Given the description of an element on the screen output the (x, y) to click on. 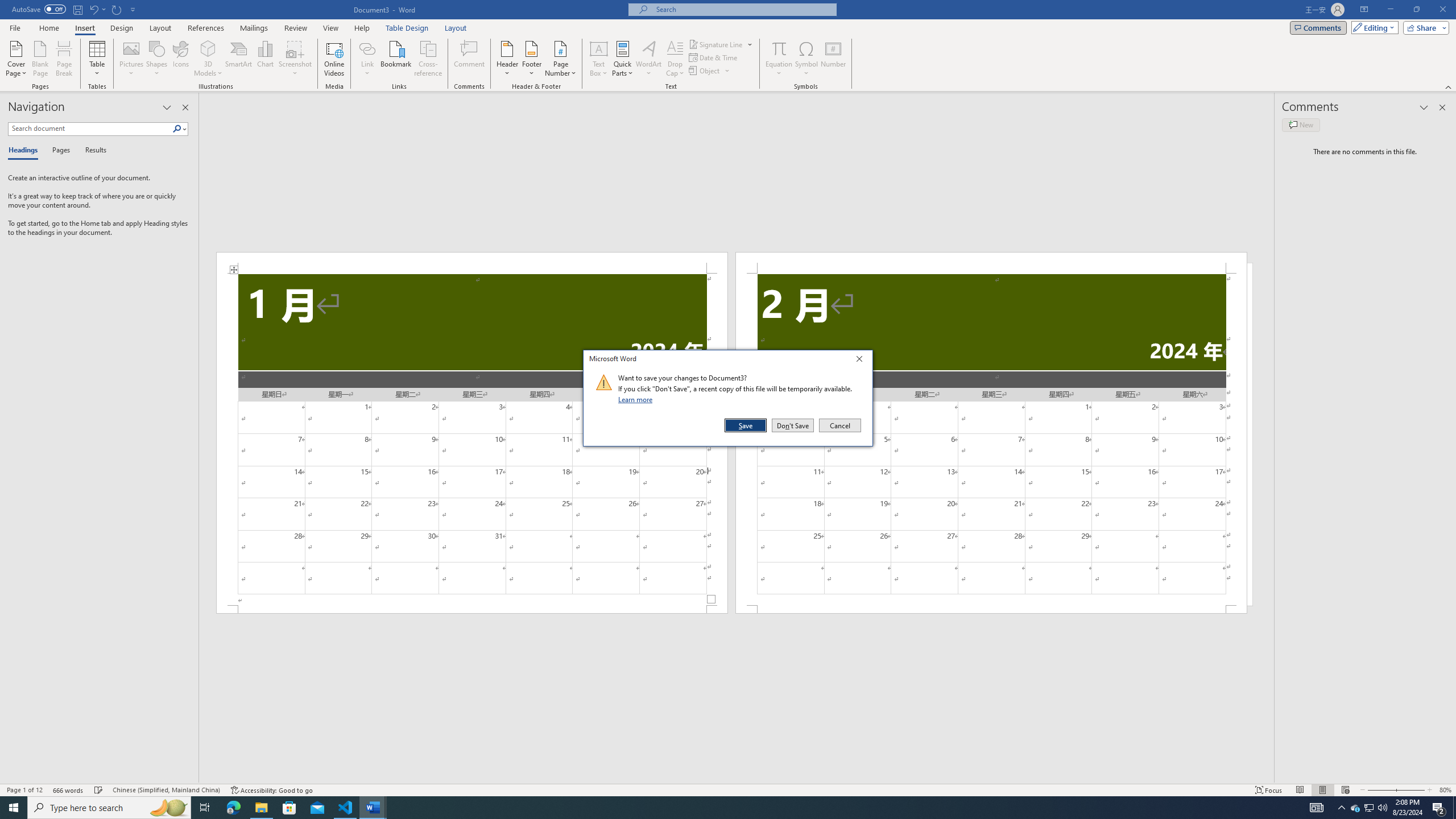
3D Models (208, 48)
Text Box (598, 58)
Repeat Doc Close (117, 9)
Page Break (63, 58)
Online Videos... (333, 58)
Number... (833, 58)
Screenshot (295, 58)
Page Number Page 1 of 12 (24, 790)
Help (361, 28)
Close pane (185, 107)
Link (367, 48)
Microsoft Store (289, 807)
Save (746, 425)
Design (122, 28)
Running applications (717, 807)
